Given the description of an element on the screen output the (x, y) to click on. 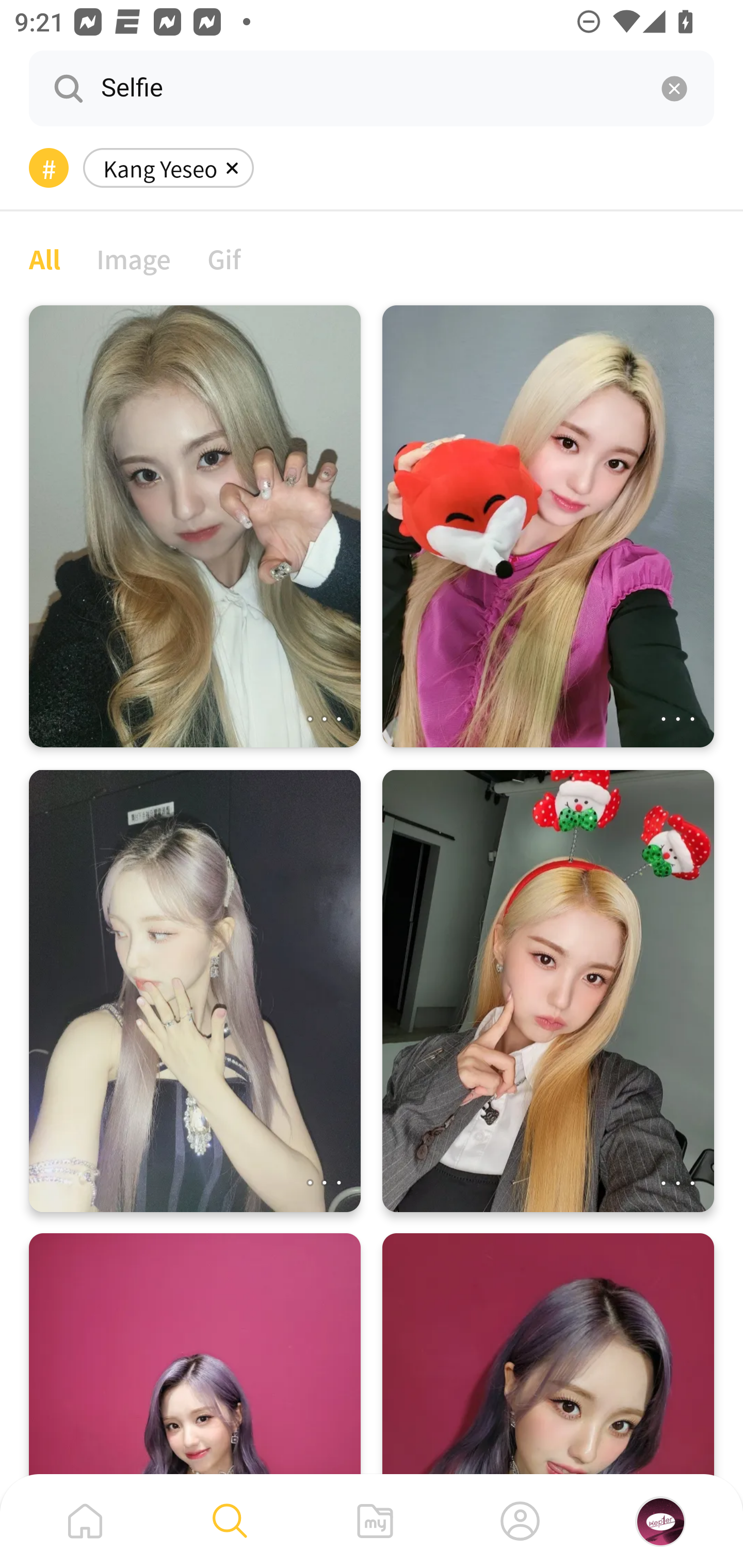
All (44, 257)
Image (133, 257)
Gif (223, 257)
